Given the description of an element on the screen output the (x, y) to click on. 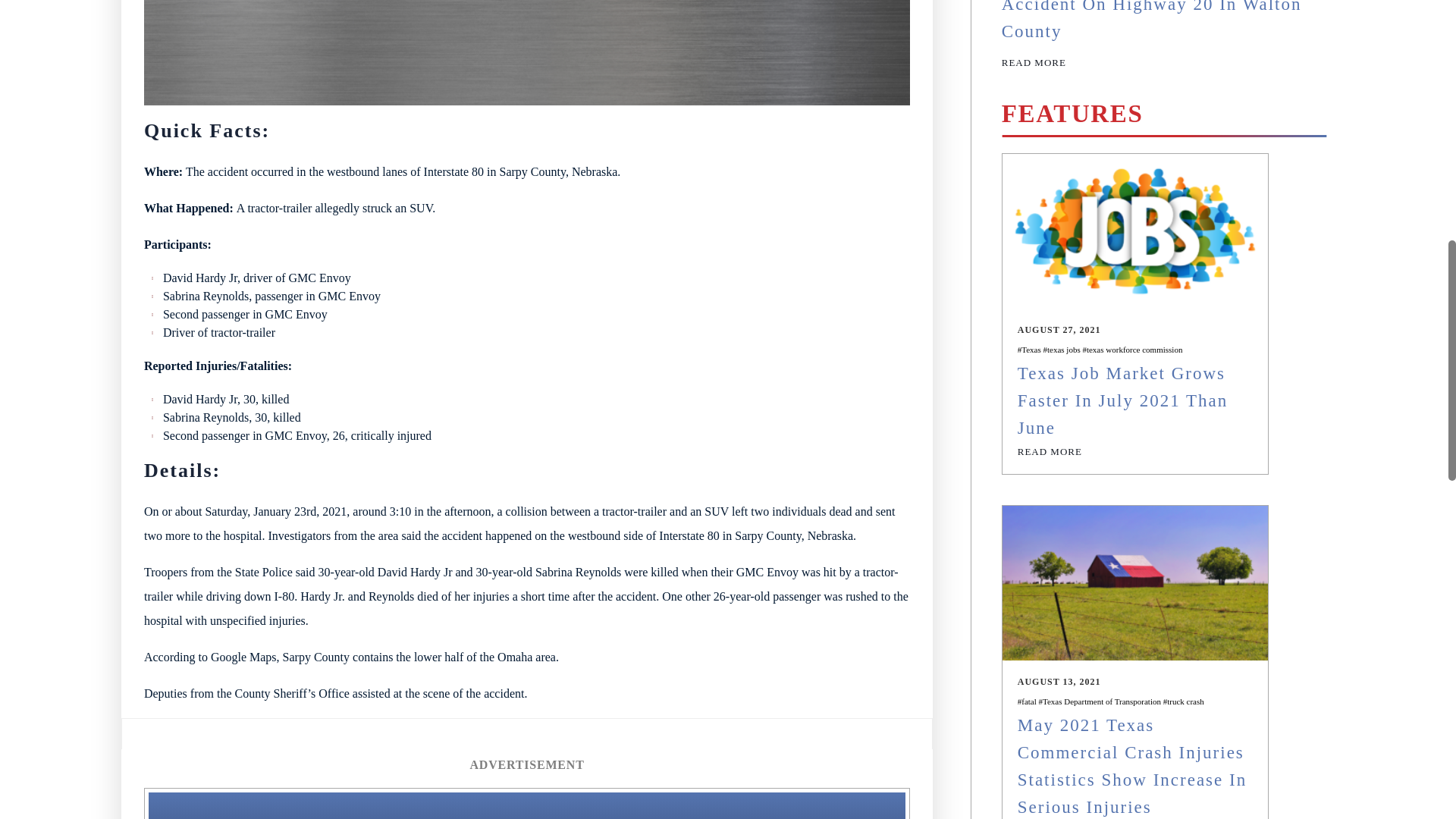
Texas Job Market Grows Faster in July 2021 than June (1122, 400)
